Given the description of an element on the screen output the (x, y) to click on. 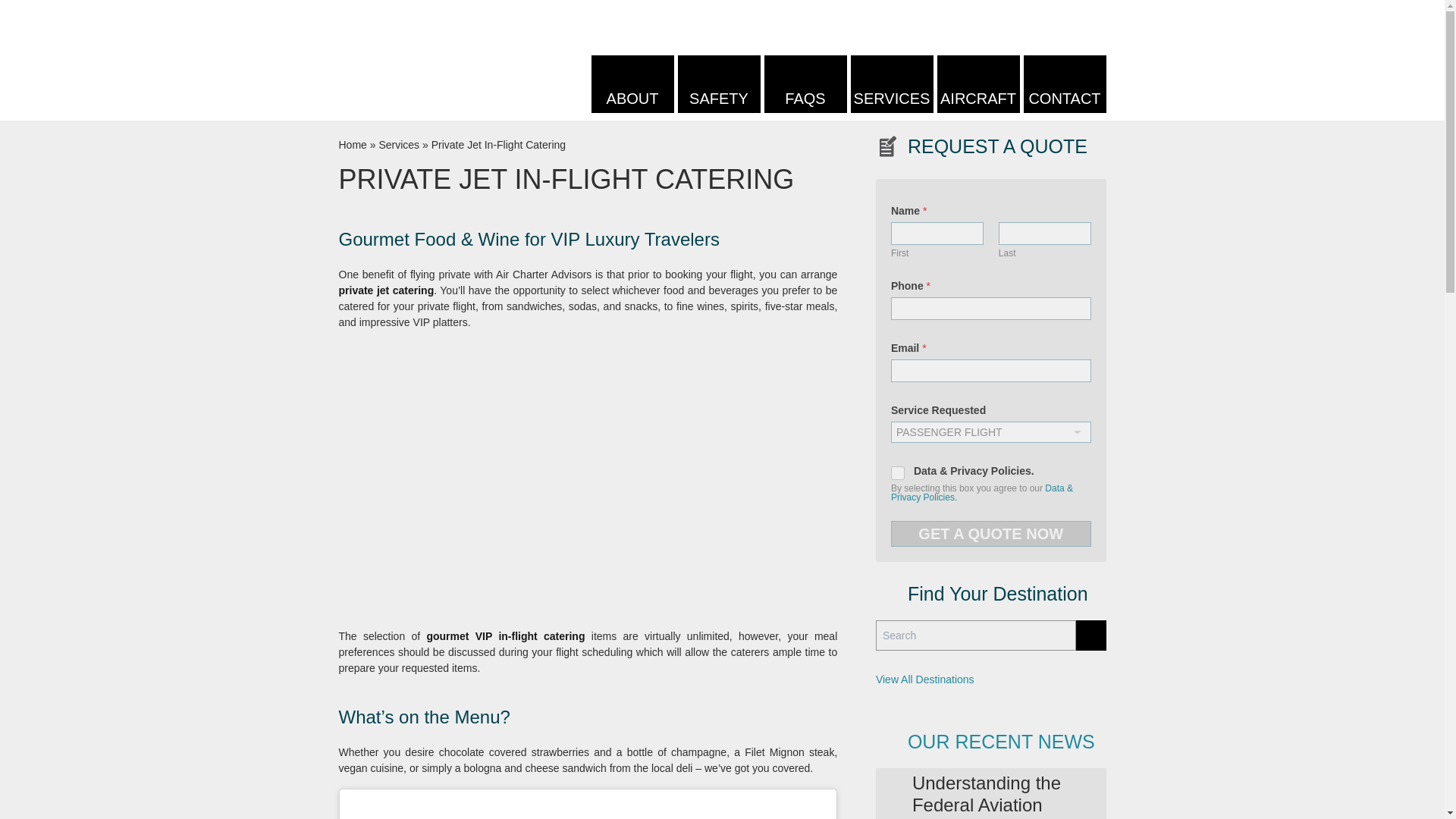
Safety (719, 84)
AIRCRAFT (978, 84)
Services (891, 84)
About (632, 84)
YES (898, 473)
ABOUT (632, 84)
FAQS (805, 84)
SERVICES (891, 84)
FAQs (805, 84)
SAFETY (719, 84)
